Given the description of an element on the screen output the (x, y) to click on. 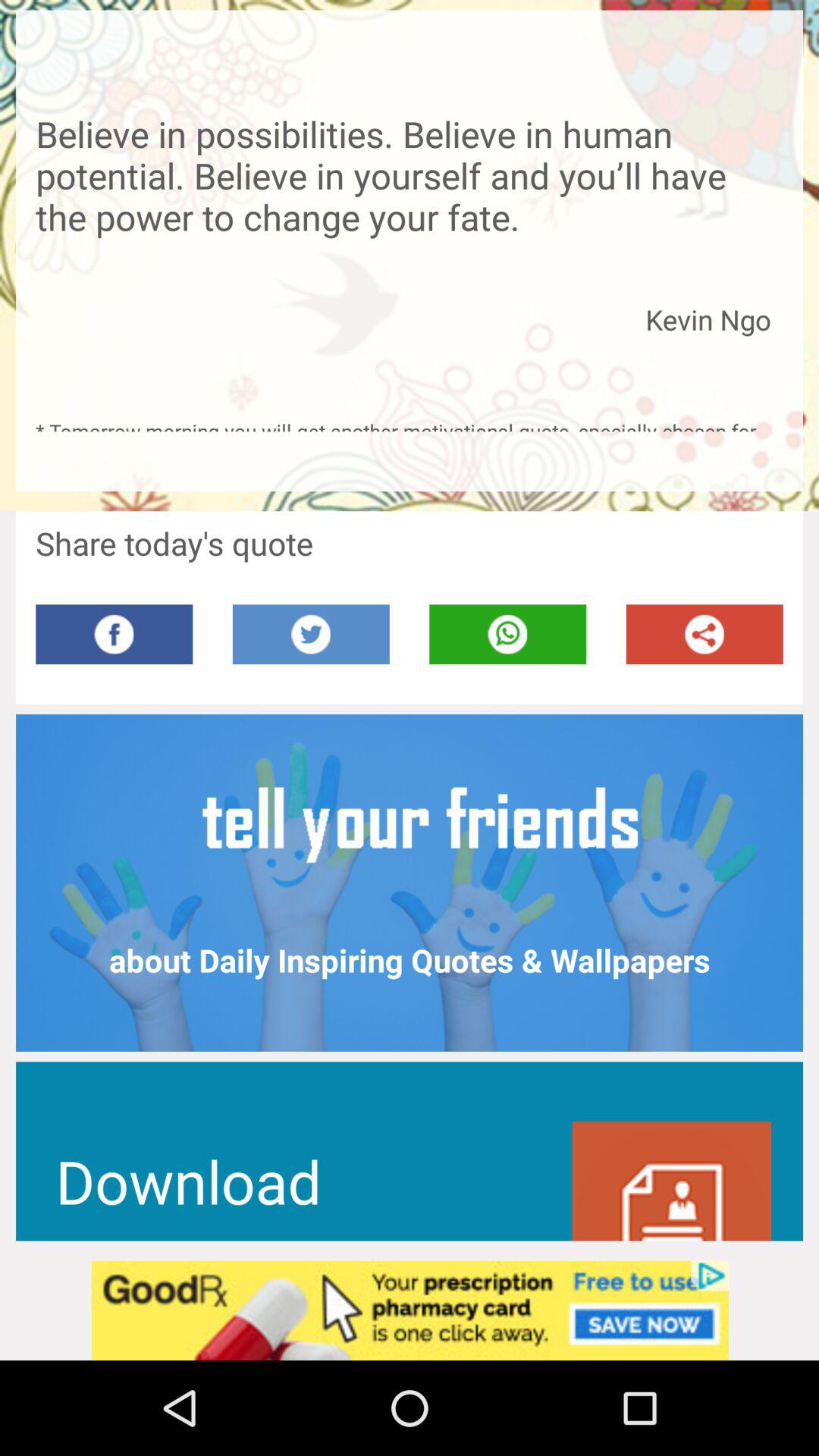
twitter (310, 634)
